Given the description of an element on the screen output the (x, y) to click on. 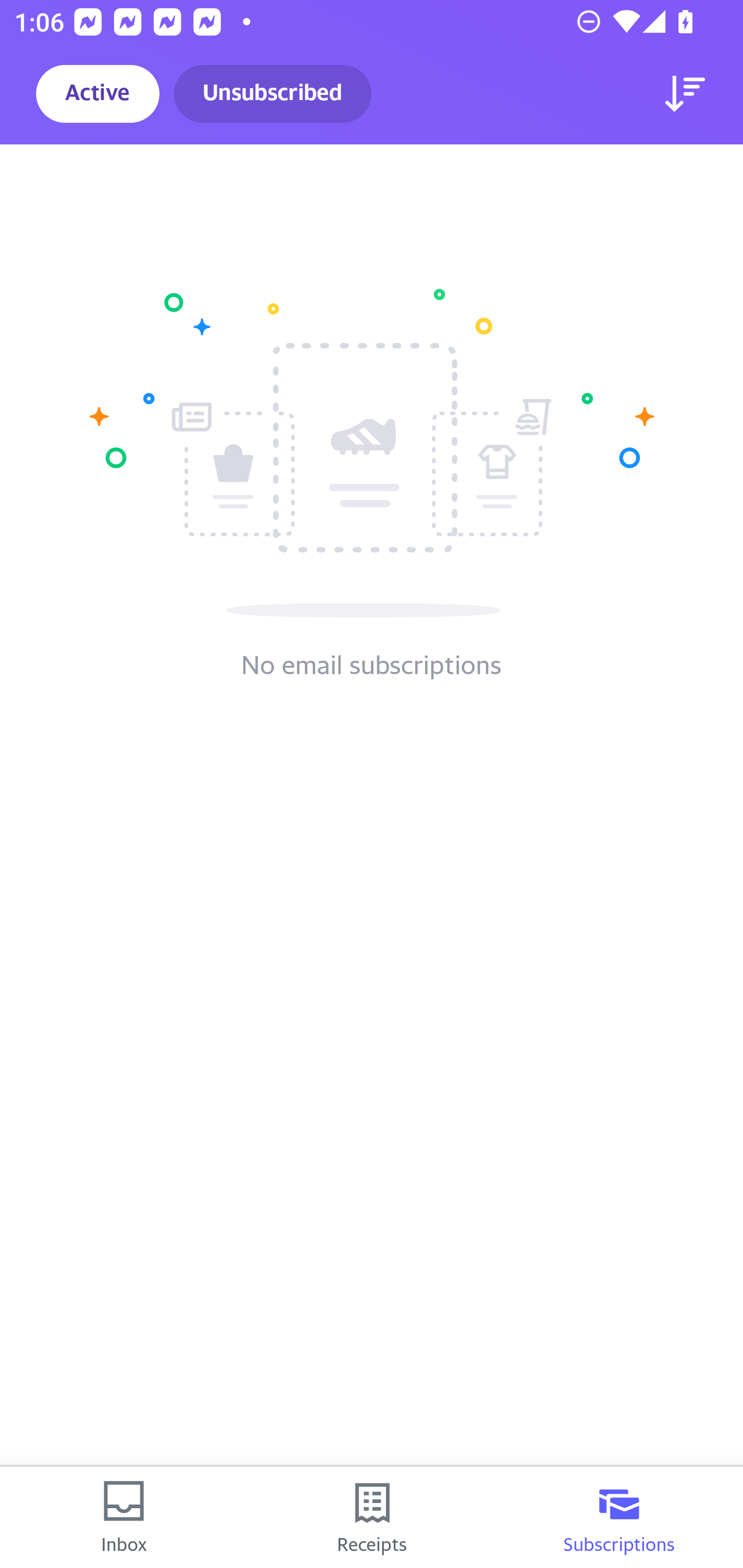
Unsubscribed (272, 93)
Sort (684, 93)
Inbox (123, 1517)
Receipts (371, 1517)
Subscriptions (619, 1517)
